Given the description of an element on the screen output the (x, y) to click on. 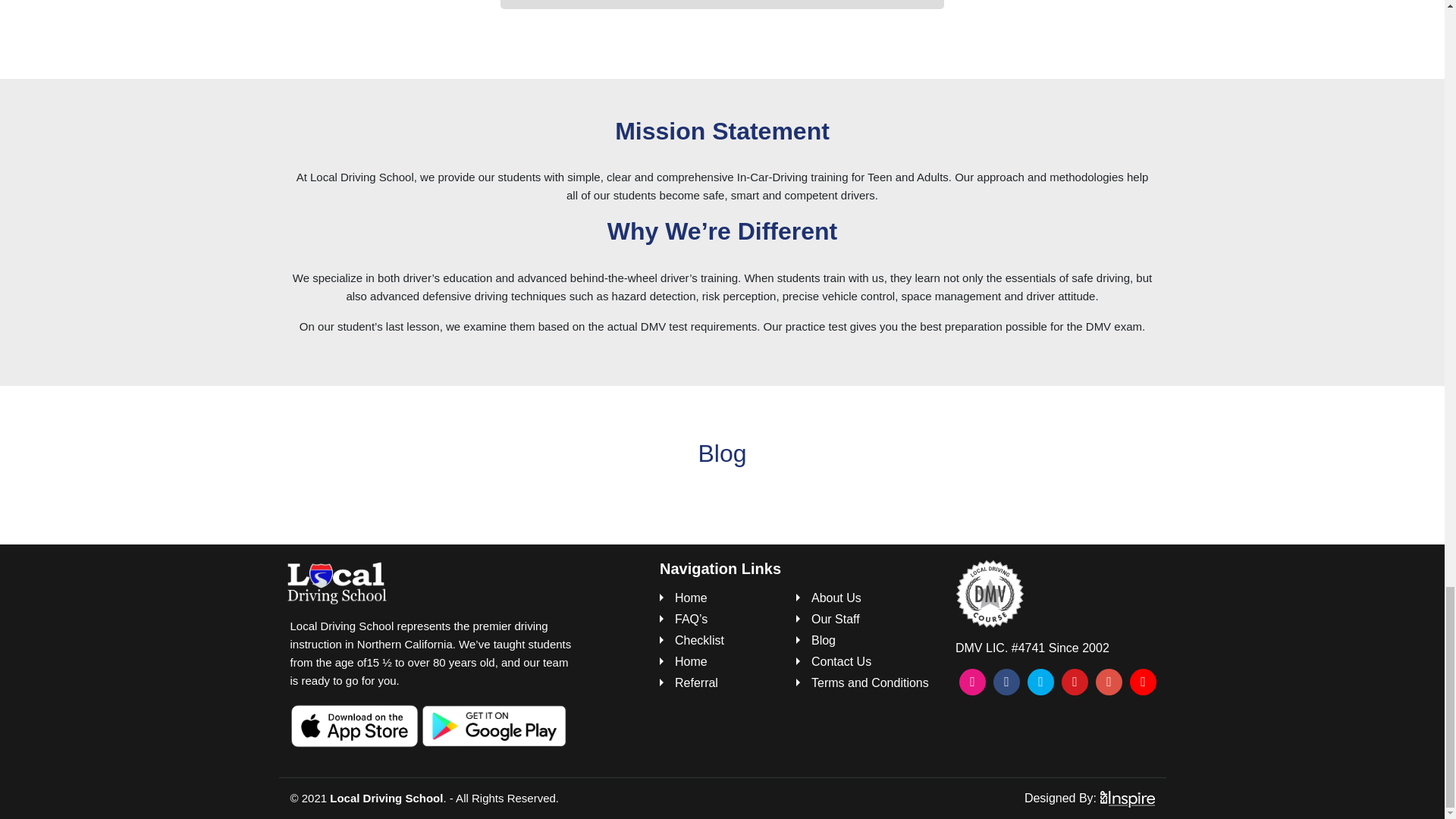
Youtube (1142, 682)
Twitter (1040, 682)
Facebook (1006, 682)
Google plus (1109, 682)
Instagram (972, 682)
Yelp (1074, 682)
